Given the description of an element on the screen output the (x, y) to click on. 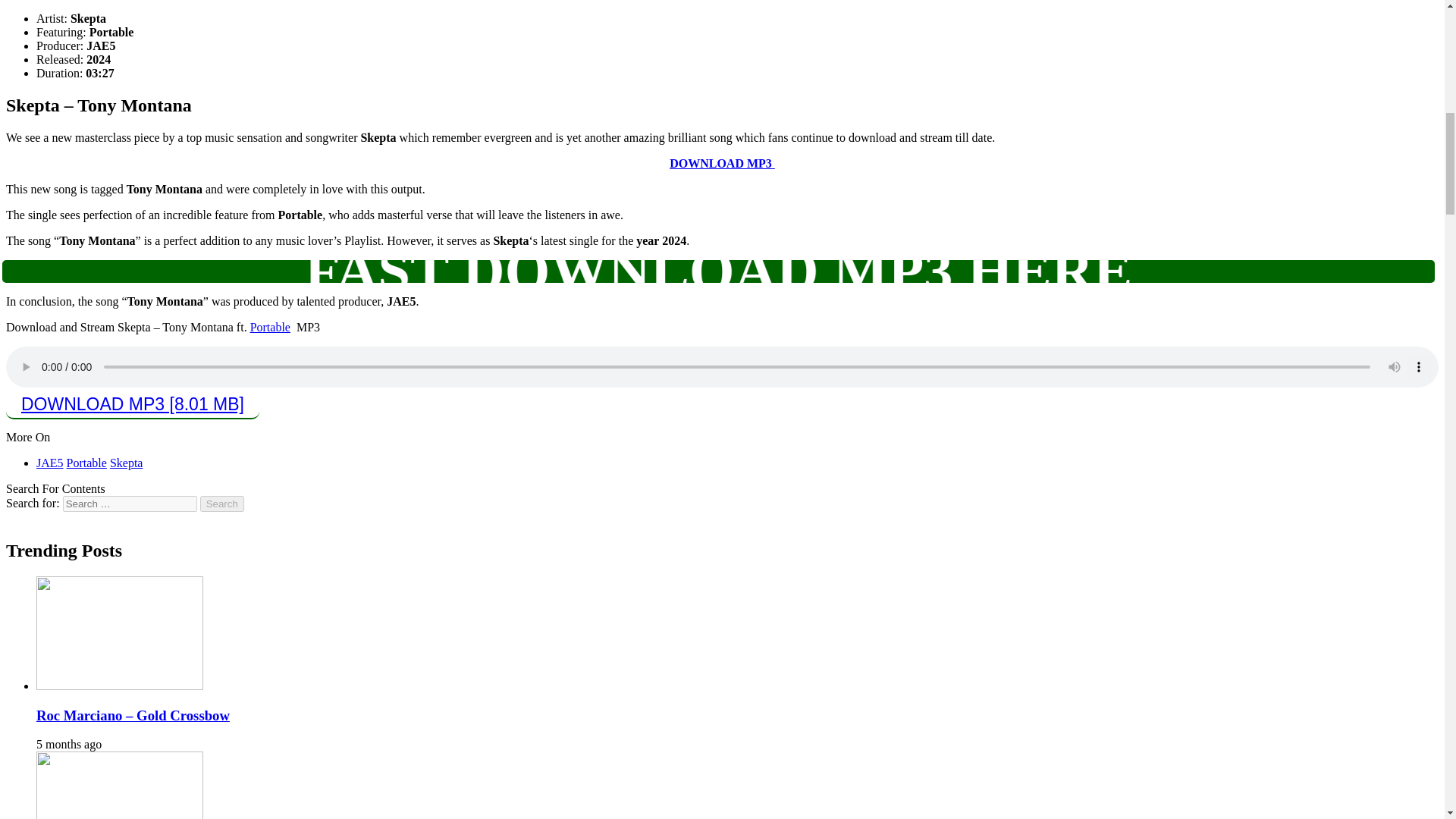
Portable (269, 327)
JAE5 (50, 462)
Search (222, 503)
Search (222, 503)
DOWNLOAD MP3  (721, 163)
Search (222, 503)
Skepta (126, 462)
Portable (86, 462)
